Given the description of an element on the screen output the (x, y) to click on. 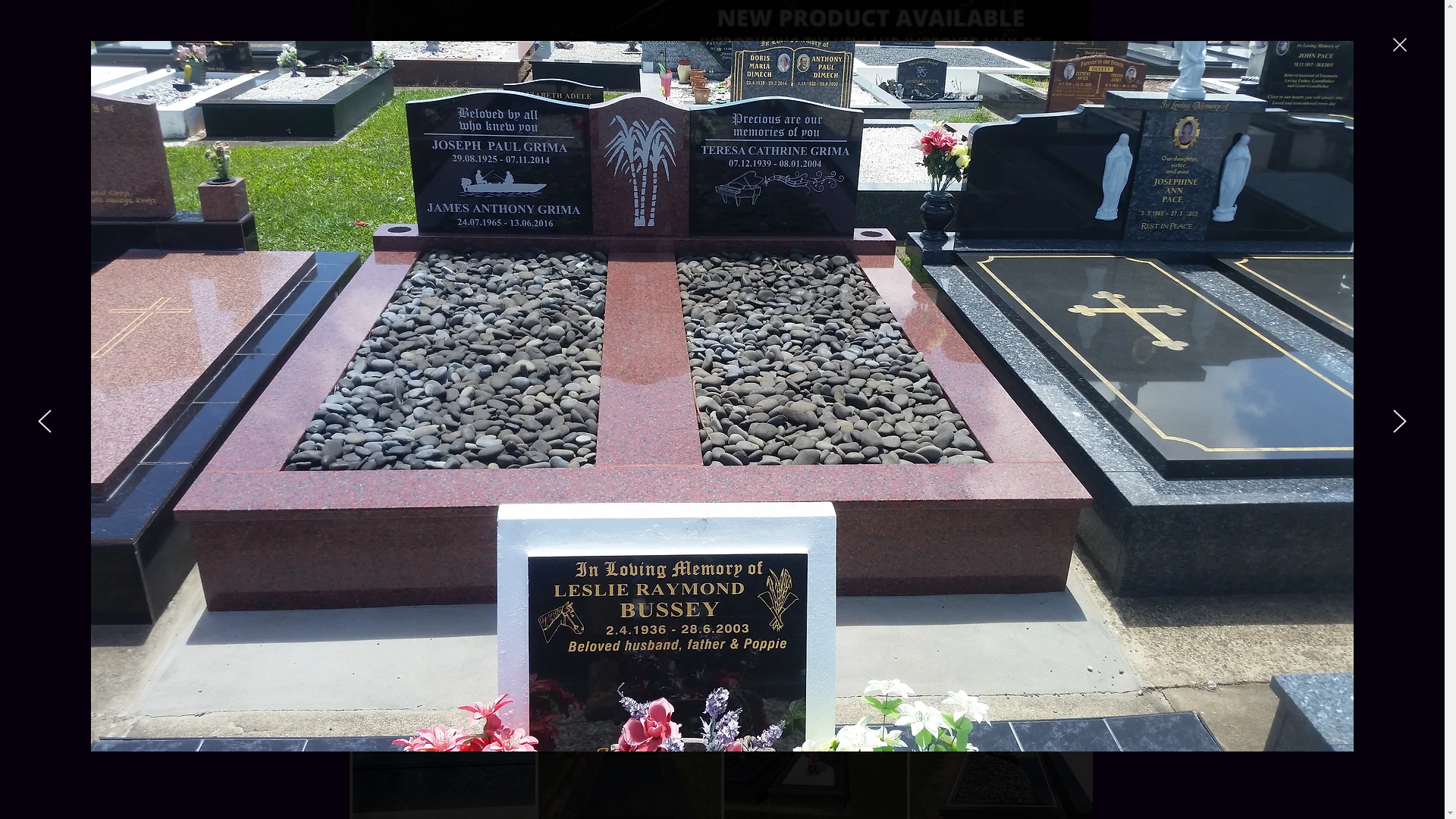
Testimonals Element type: text (974, 278)
Accessories Element type: text (647, 278)
Home Element type: text (369, 278)
Lettering Element type: text (786, 278)
Laser Engraving Element type: text (570, 278)
FAQ Element type: text (1026, 278)
Memorials Element type: text (421, 278)
Restorations Element type: text (491, 278)
Click here for more info Element type: text (875, 201)
Granite Range Element type: text (719, 278)
Contact Element type: text (1067, 278)
Epitahs and Inscriptions Element type: text (877, 278)
